Given the description of an element on the screen output the (x, y) to click on. 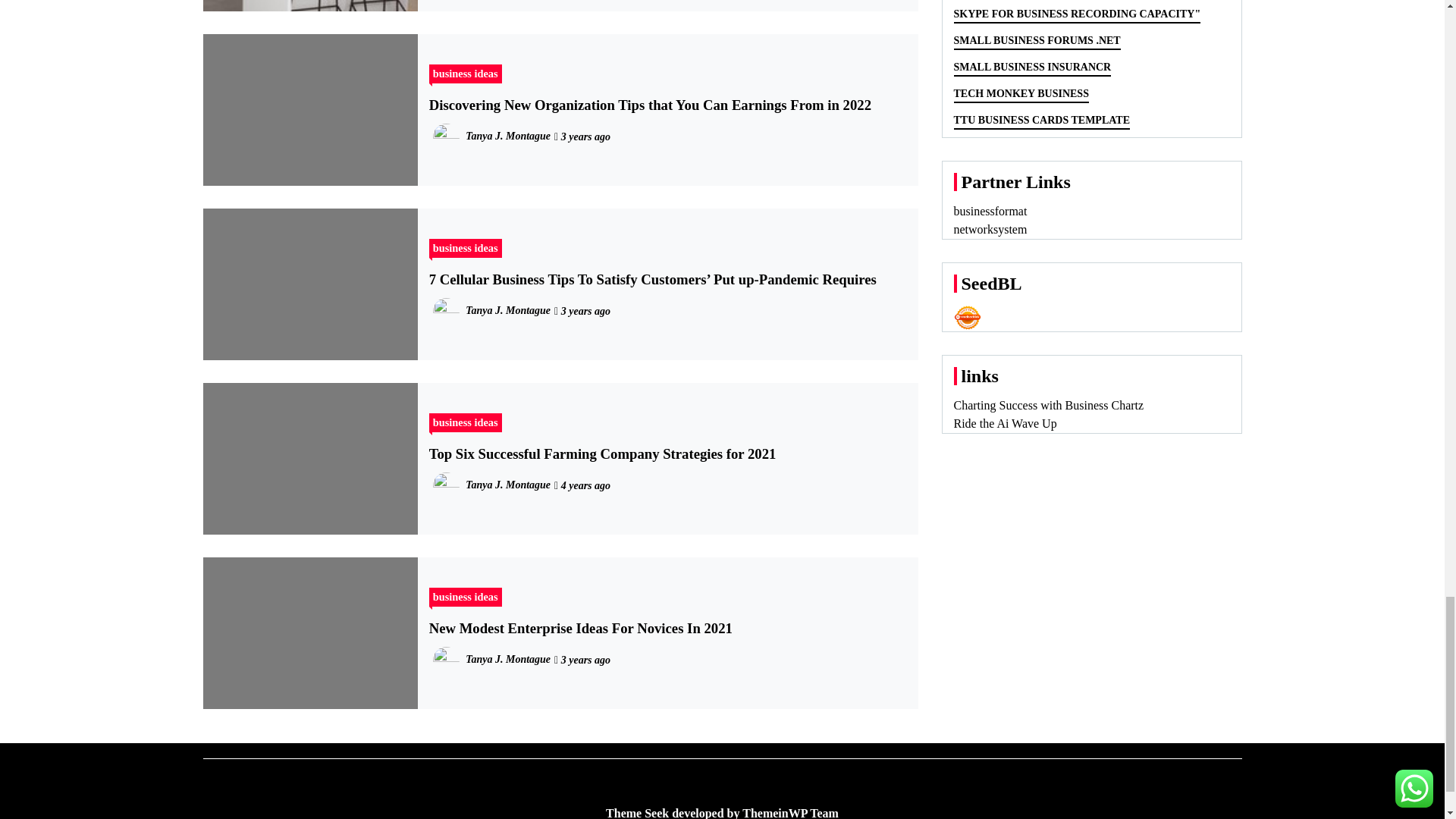
Seedbacklink (967, 317)
